Given the description of an element on the screen output the (x, y) to click on. 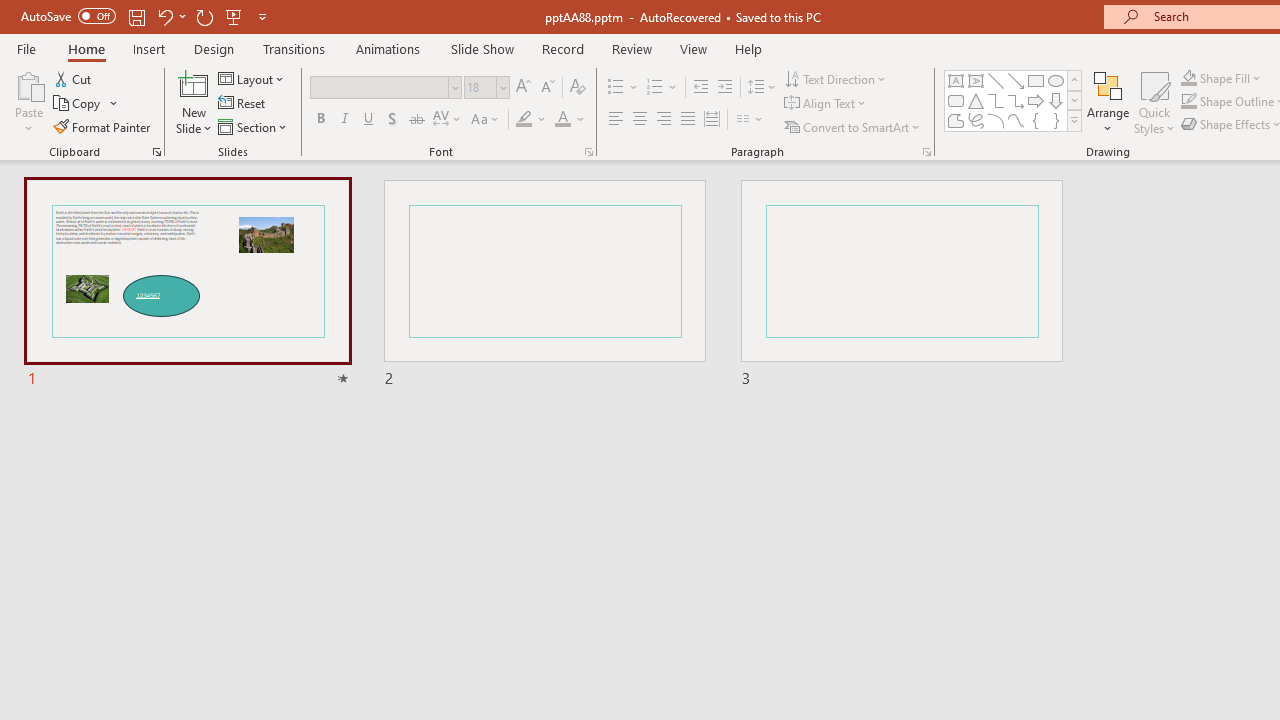
Underline (369, 119)
Arrange (1108, 102)
Paragraph... (926, 151)
Font... (588, 151)
Shape Fill Aqua, Accent 2 (1188, 78)
Convert to SmartArt (853, 126)
Rectangle: Rounded Corners (955, 100)
Clear Formatting (577, 87)
Increase Font Size (522, 87)
